Given the description of an element on the screen output the (x, y) to click on. 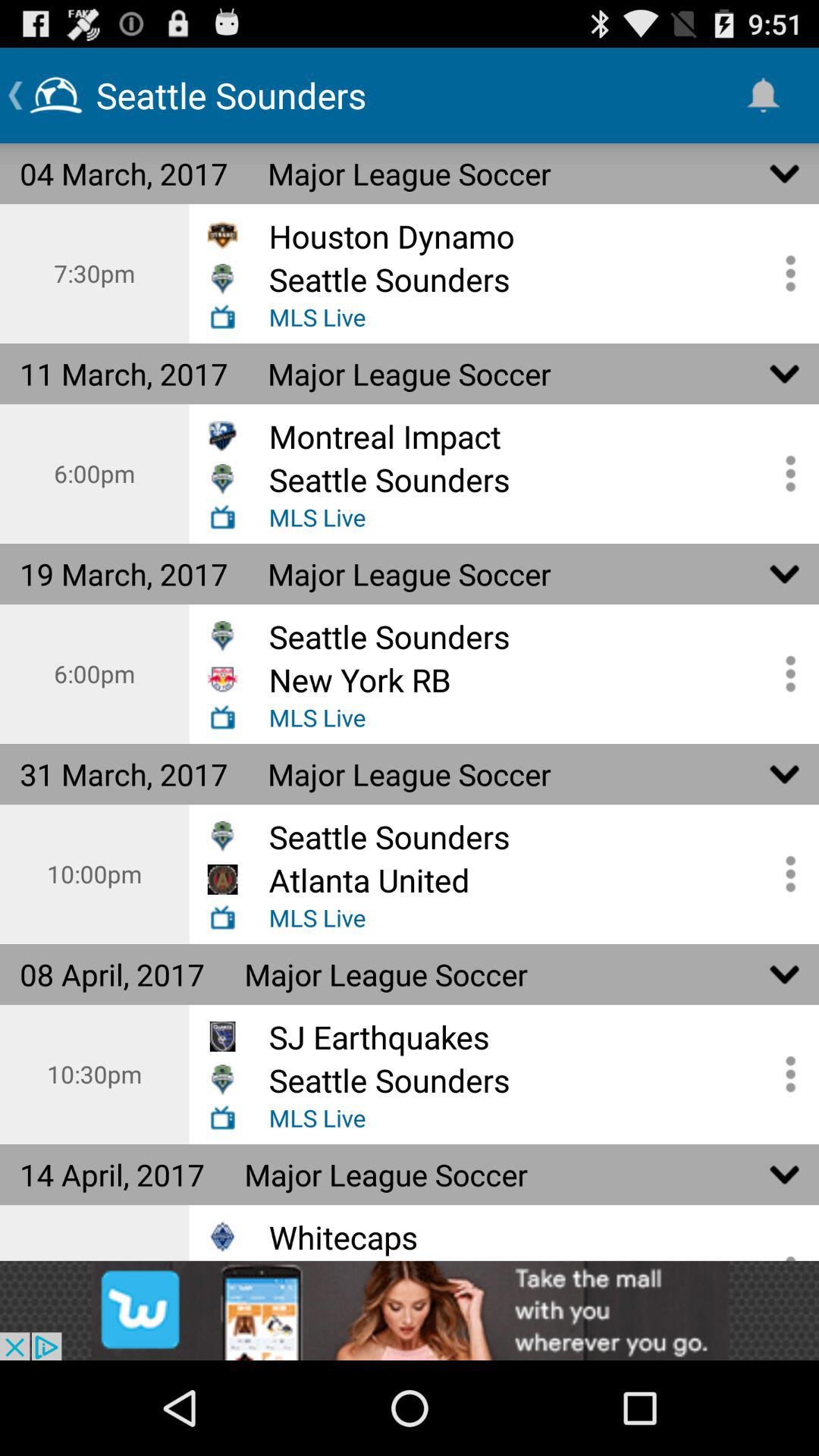
open more details for this match (785, 273)
